Given the description of an element on the screen output the (x, y) to click on. 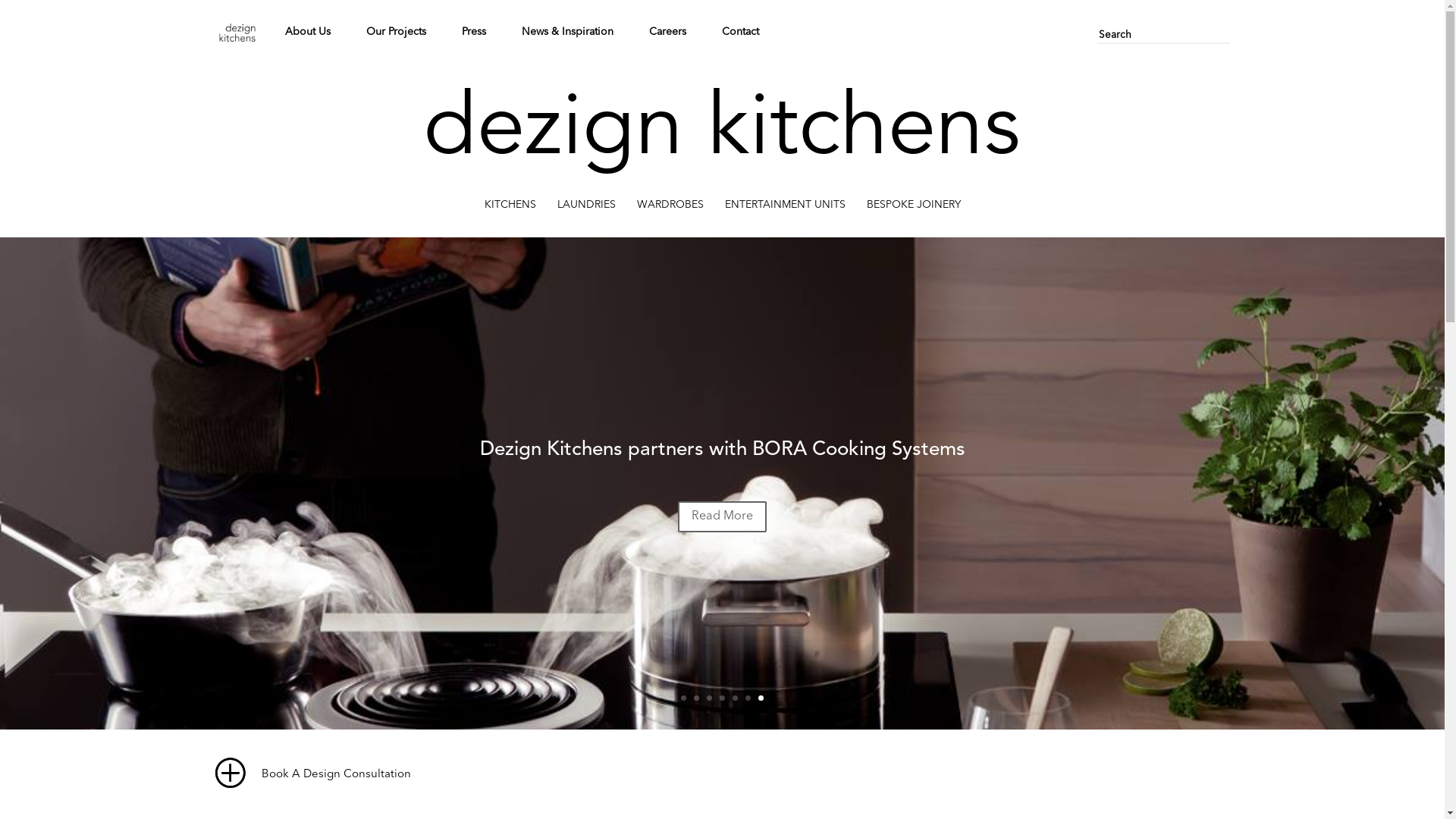
Press Element type: text (473, 31)
Book A Design Consultation Element type: text (313, 774)
About Us Element type: text (307, 31)
6 Element type: text (747, 697)
2 Element type: text (696, 697)
Dezign Kitchens partners with BORA Cooking Systems Element type: text (721, 449)
Read More Element type: text (721, 516)
7 Element type: text (760, 697)
1 Element type: text (683, 697)
3 Element type: text (709, 697)
Careers Element type: text (667, 31)
Our Projects Element type: text (395, 31)
Search for: Element type: hover (1162, 35)
4 Element type: text (721, 697)
5 Element type: text (734, 697)
News & Inspiration Element type: text (567, 31)
Contact Element type: text (740, 31)
